Given the description of an element on the screen output the (x, y) to click on. 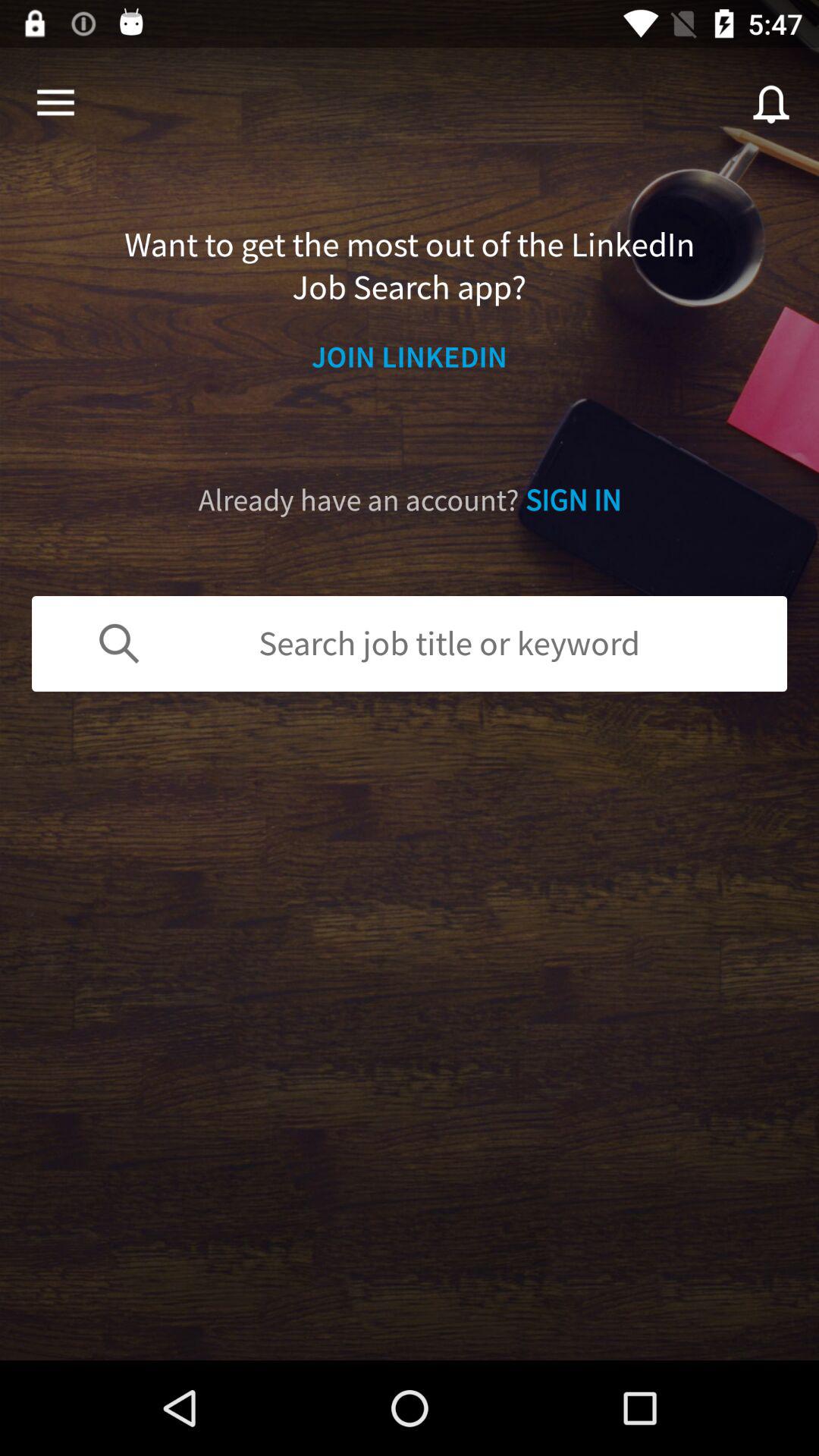
tap item to the left of the search (55, 103)
